Given the description of an element on the screen output the (x, y) to click on. 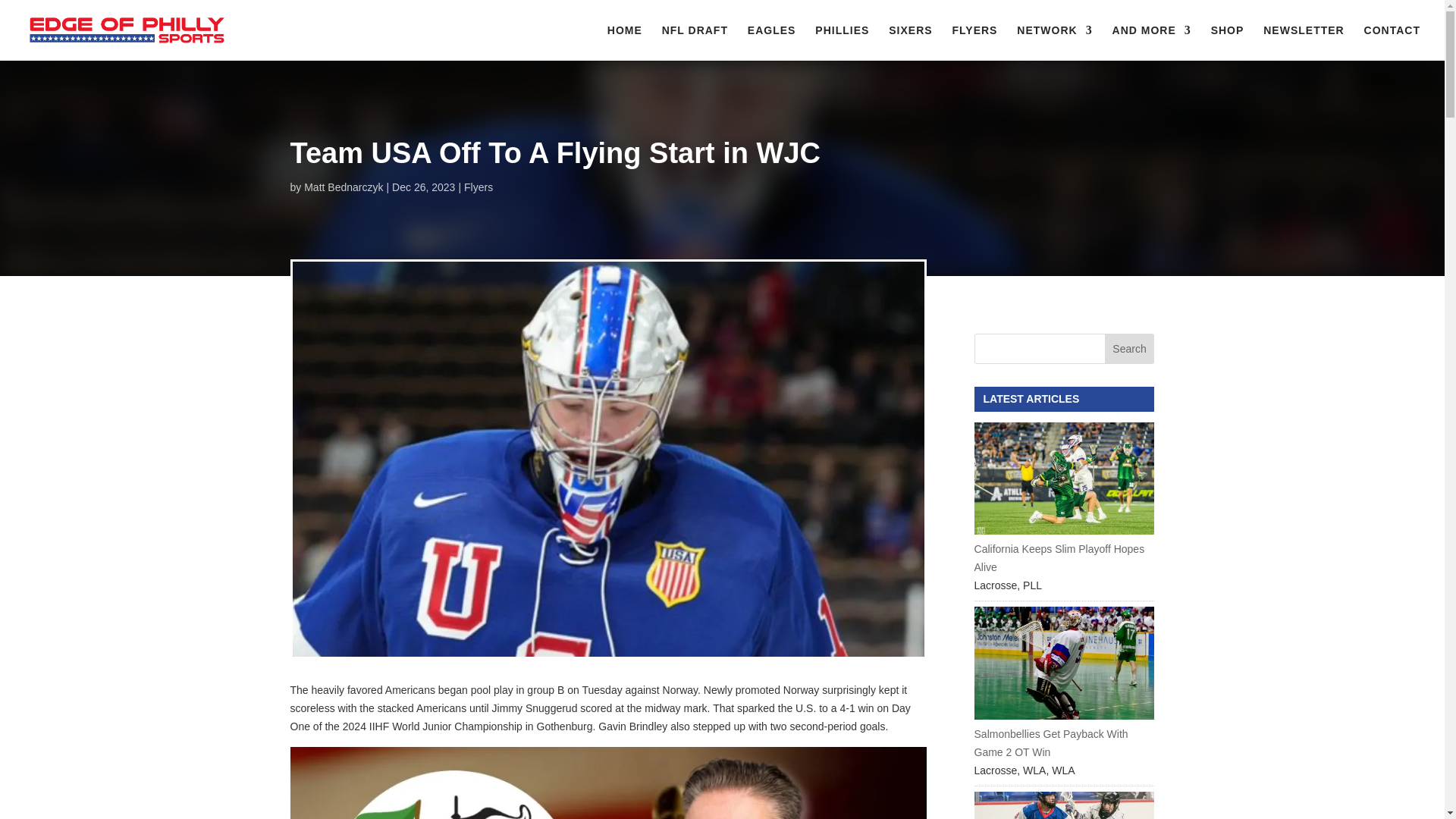
SHOP (1227, 42)
EAGLES (772, 42)
Posts by Matt Bednarczyk (343, 186)
HOME (624, 42)
NEWSLETTER (1303, 42)
CONTACT (1392, 42)
NFL DRAFT (695, 42)
PHILLIES (842, 42)
Search (1129, 348)
FLYERS (974, 42)
